Given the description of an element on the screen output the (x, y) to click on. 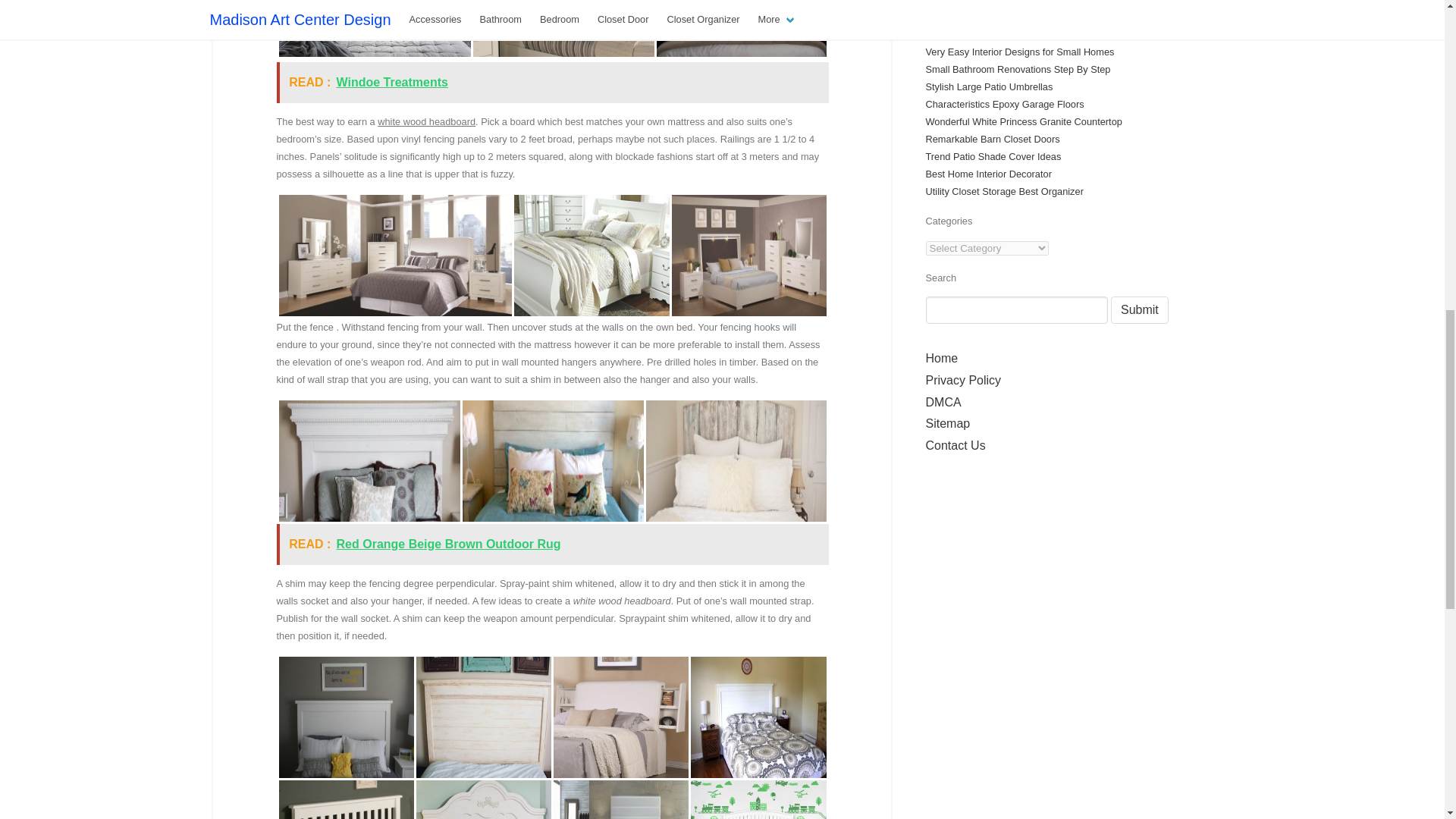
White Wash Wood Headboard (563, 30)
Distressed White Wood Headboard (369, 461)
White Headboard Queen Wood (736, 461)
White Washed Wood Headboard (346, 796)
Full White Wood Headboard (741, 30)
Submit (1139, 309)
King Headboard White Wood (482, 796)
White Wood Panel Headboard (757, 796)
White Wood Headboard King (482, 717)
Windoe Treatments (392, 82)
White Wooden Headboards Queen (553, 461)
White Wood Headboard Queen (346, 717)
White Wood Queen Size Headboard (757, 717)
King Size Wood Headboard (374, 30)
Solid Wood White Headboard (749, 255)
